Given the description of an element on the screen output the (x, y) to click on. 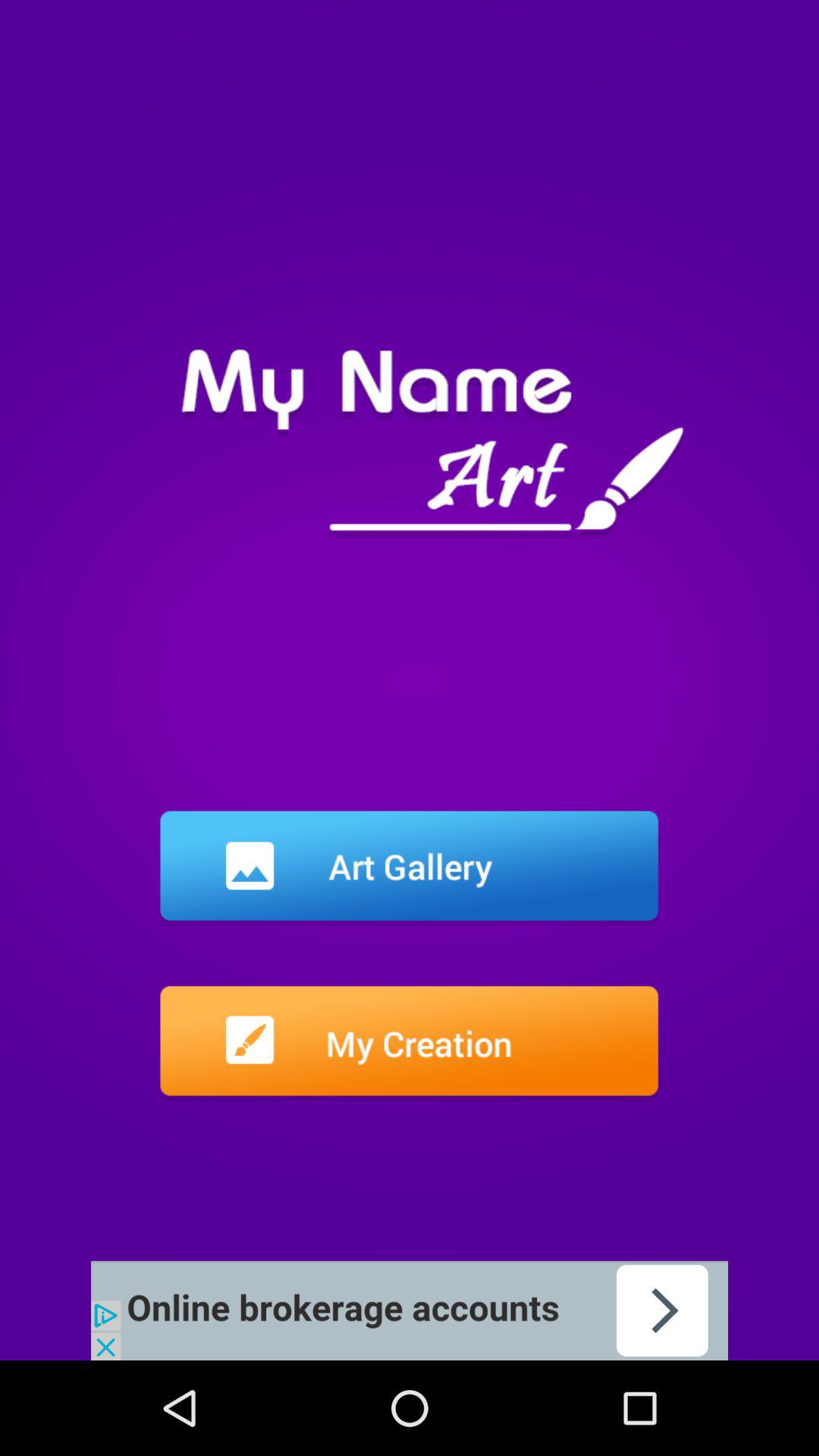
view art gallery (409, 868)
